Given the description of an element on the screen output the (x, y) to click on. 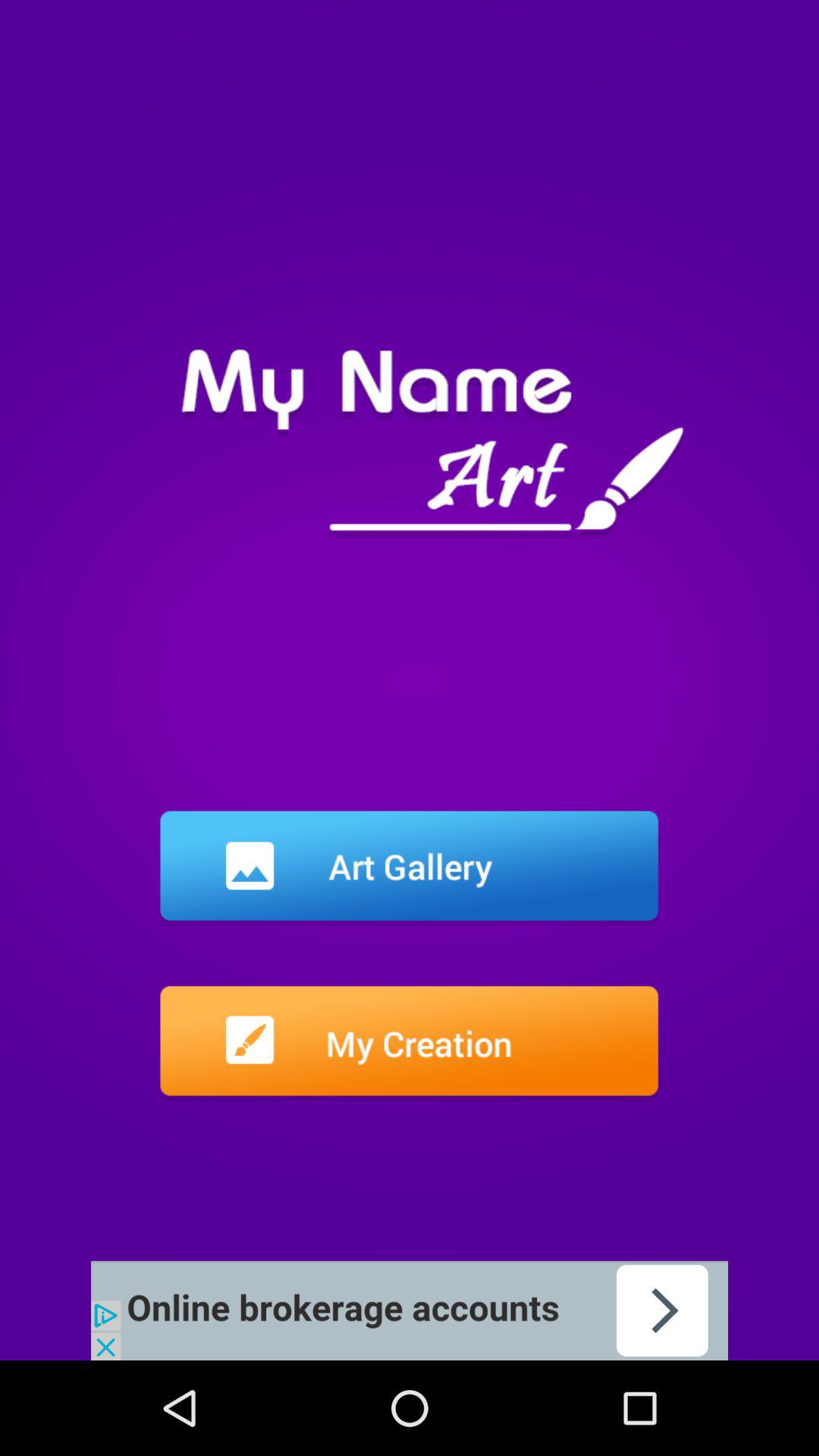
view art gallery (409, 868)
